Given the description of an element on the screen output the (x, y) to click on. 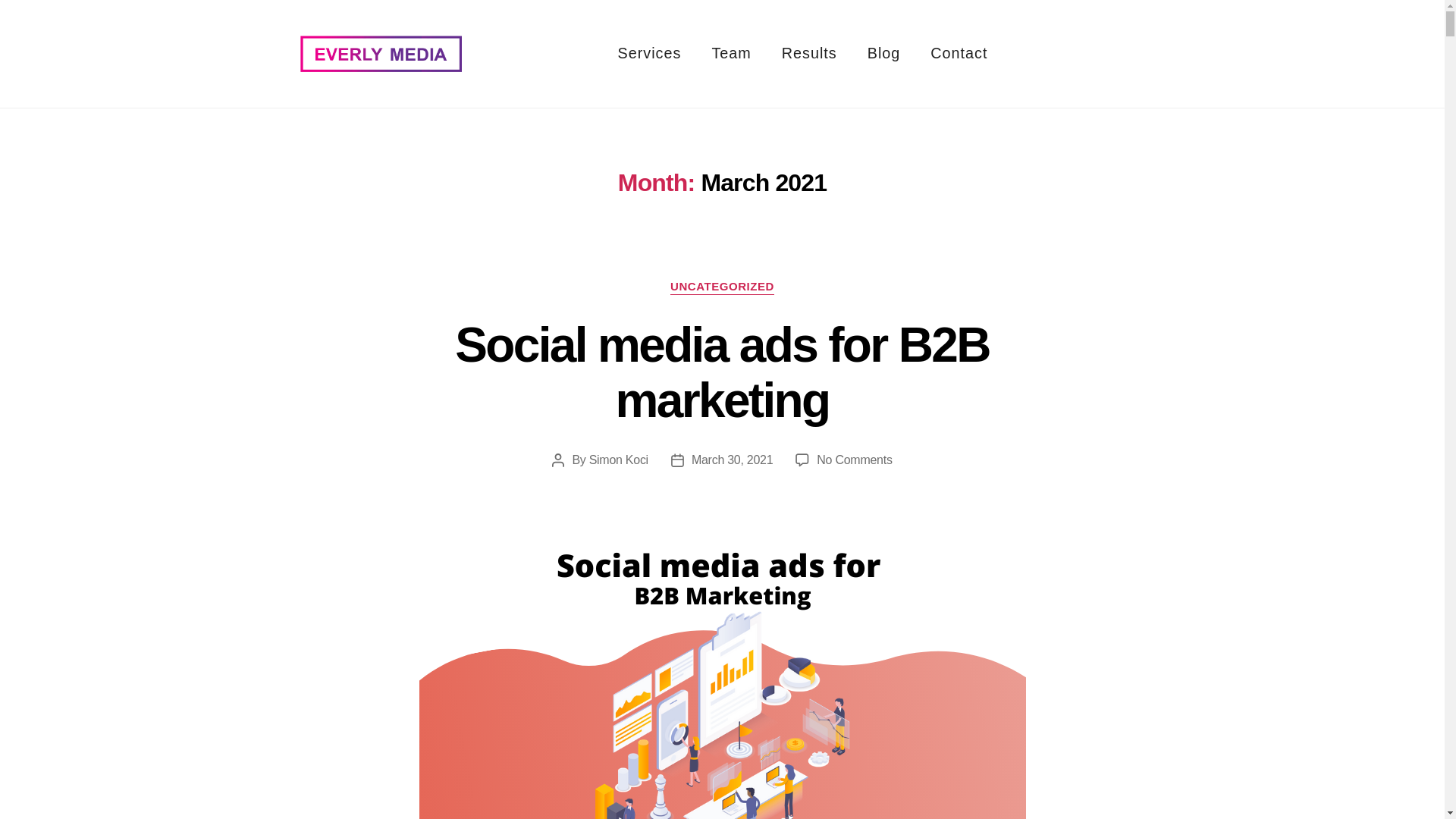
Results (809, 53)
No Comments (853, 459)
March 30, 2021 (732, 459)
Social media ads for B2B marketing (721, 372)
Simon Koci (618, 459)
Services (649, 53)
UNCATEGORIZED (721, 287)
Contact (959, 53)
